Given the description of an element on the screen output the (x, y) to click on. 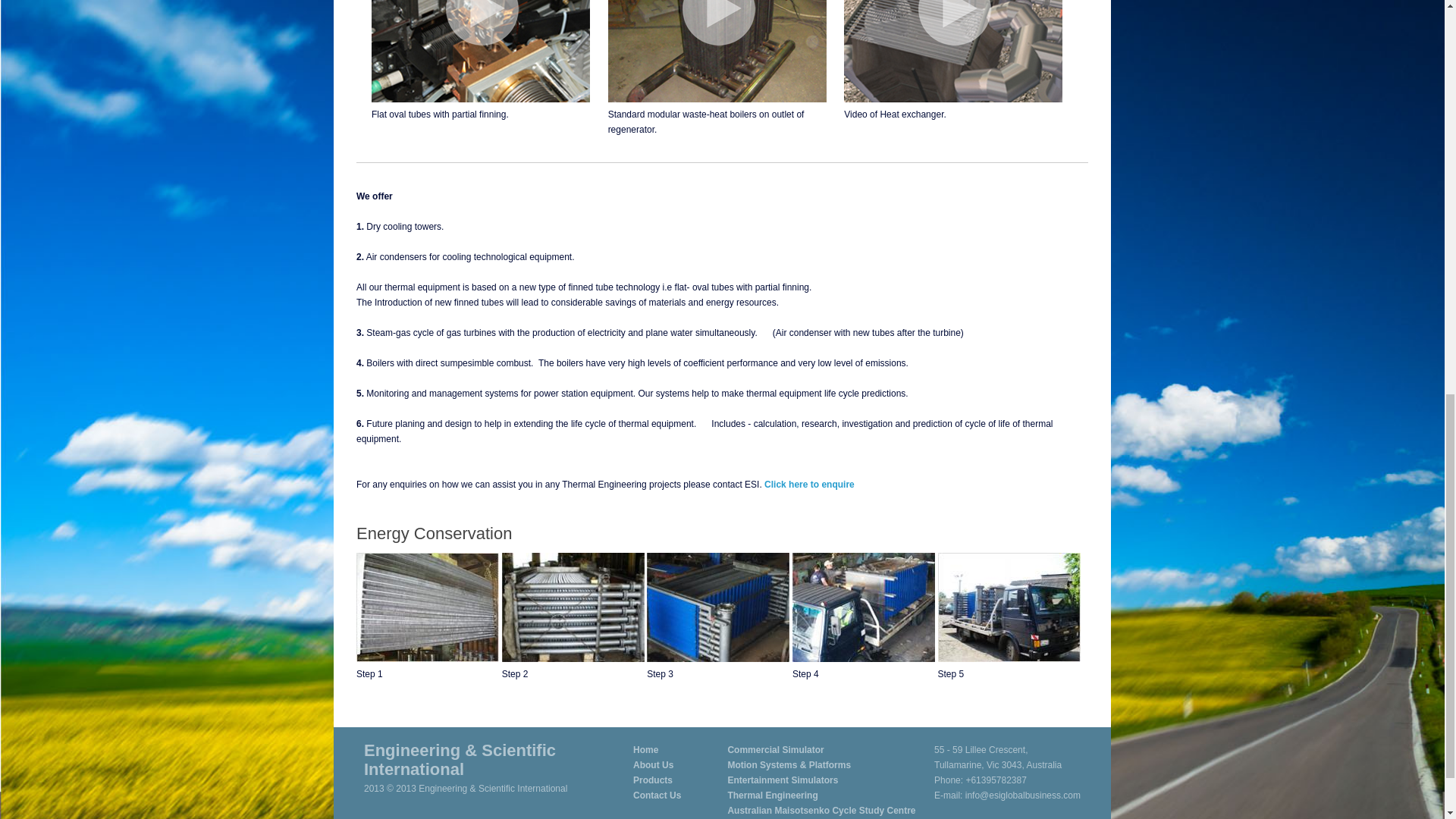
Australian Maisotsenko Cycle Study Centre (820, 810)
Home (645, 749)
Commercial Simulator (775, 749)
About Us (652, 765)
Contact Us (657, 795)
Home (645, 749)
Click here to enquire (809, 484)
About Us (652, 765)
Entertainment Simulators (782, 779)
Products (652, 779)
Thermal Engineering (771, 795)
Our Products (652, 779)
